Given the description of an element on the screen output the (x, y) to click on. 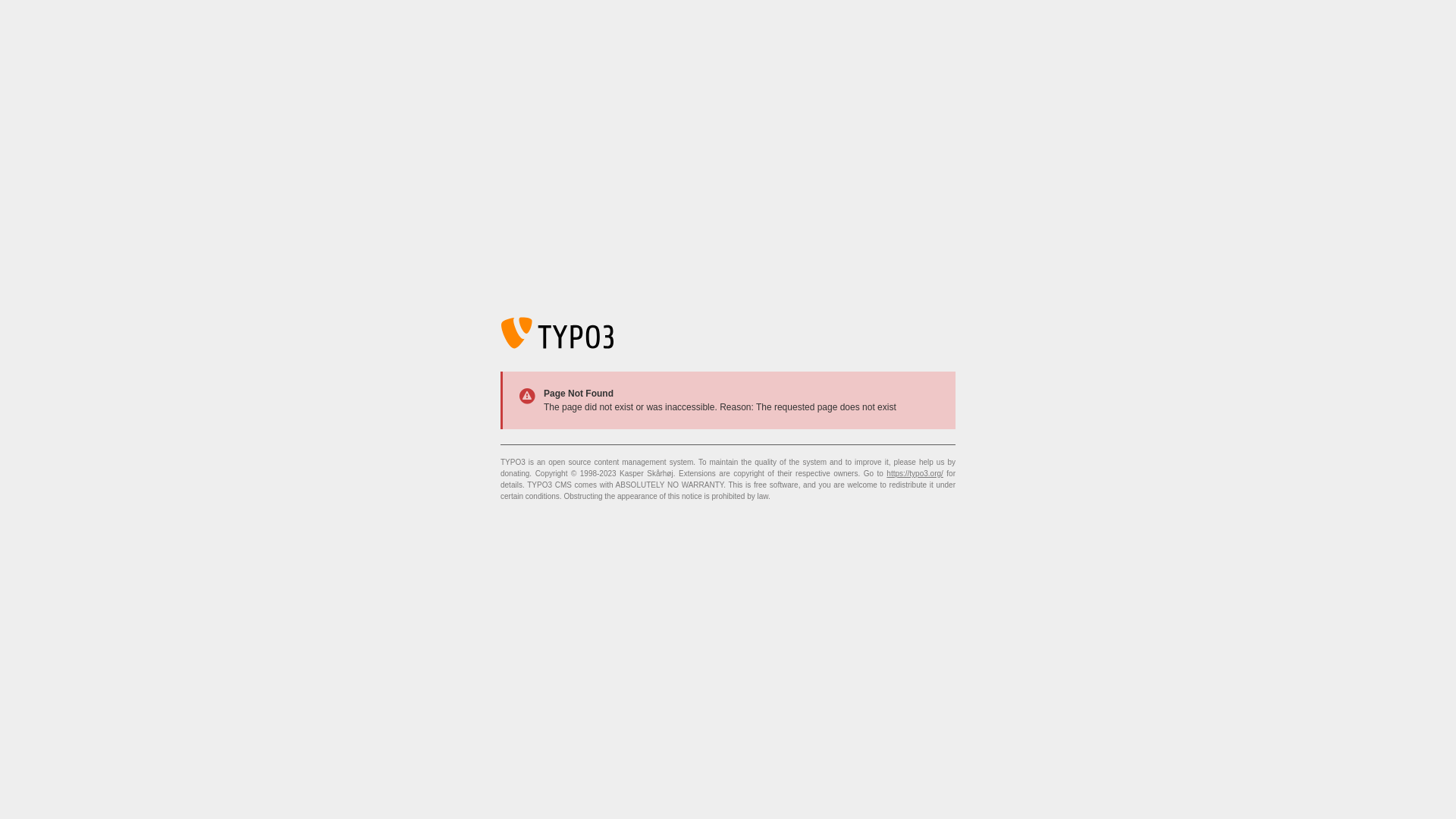
https://typo3.org/ Element type: text (914, 473)
